Given the description of an element on the screen output the (x, y) to click on. 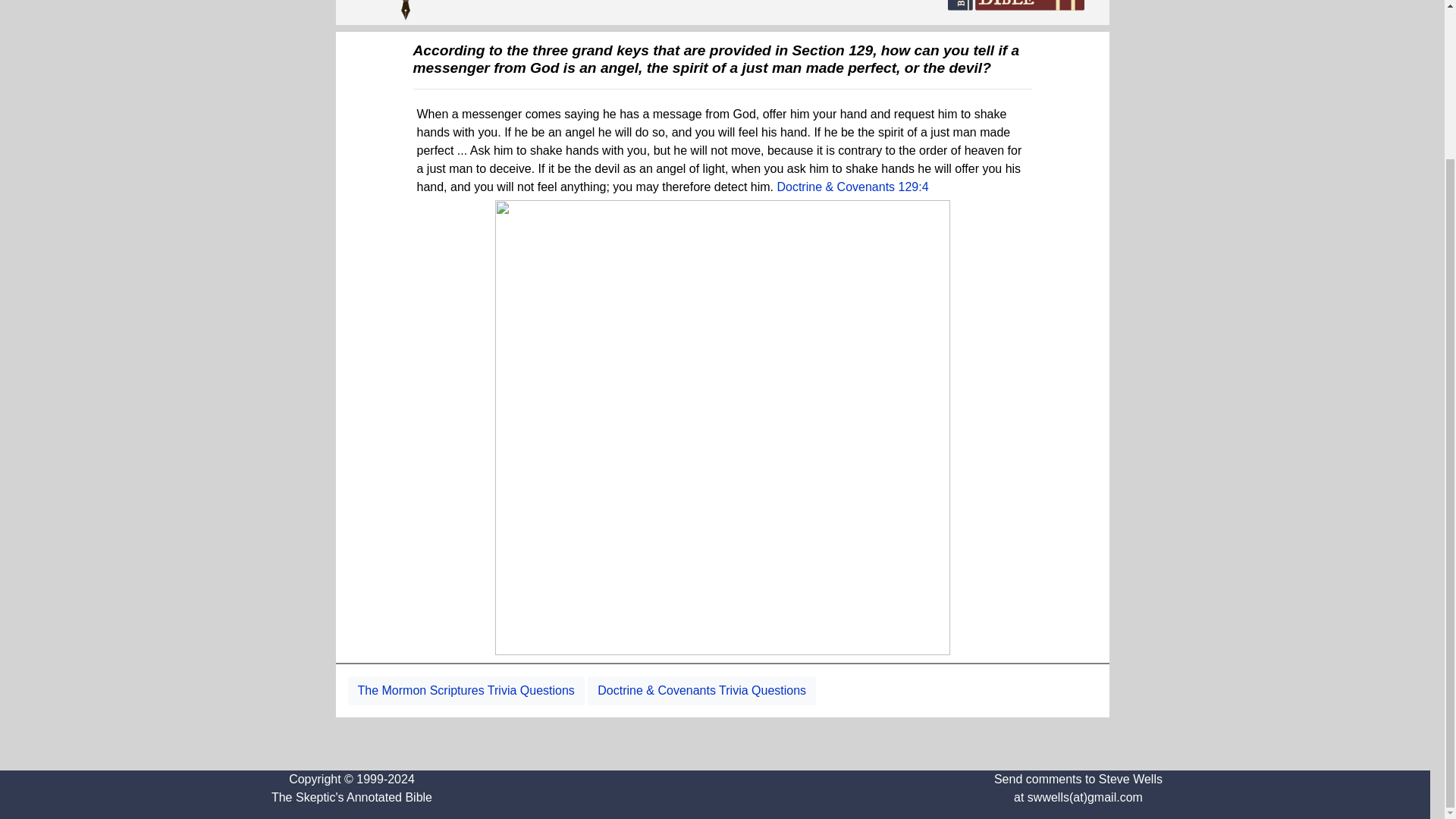
The Mormon Scriptures Trivia Questions (465, 690)
Home Page (401, 10)
